Given the description of an element on the screen output the (x, y) to click on. 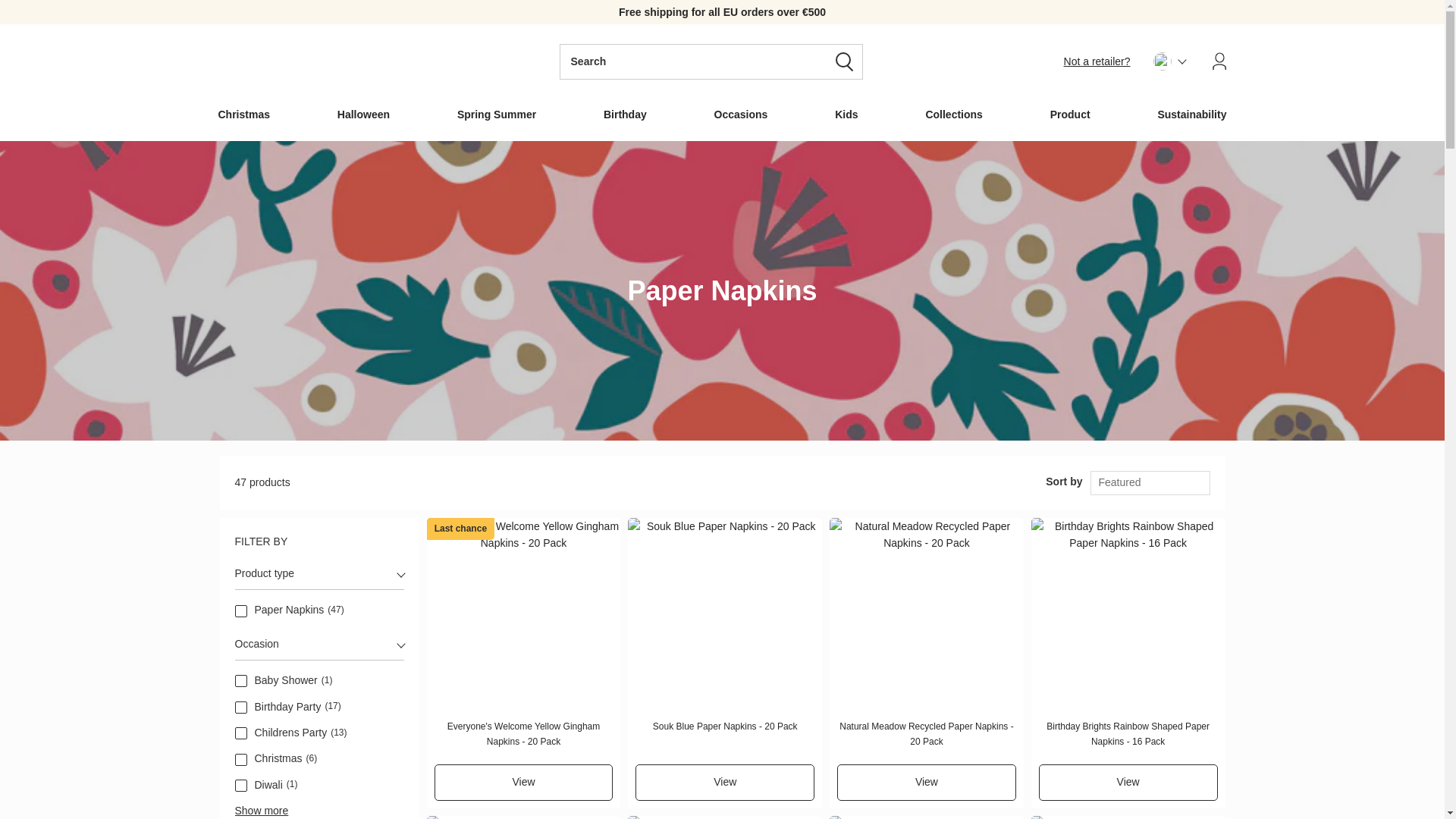
Baby Shower (240, 680)
Childrens Party (240, 733)
Diwali (240, 785)
Birthday Party (240, 707)
Paper Napkins (240, 611)
Christmas (240, 759)
